Given the description of an element on the screen output the (x, y) to click on. 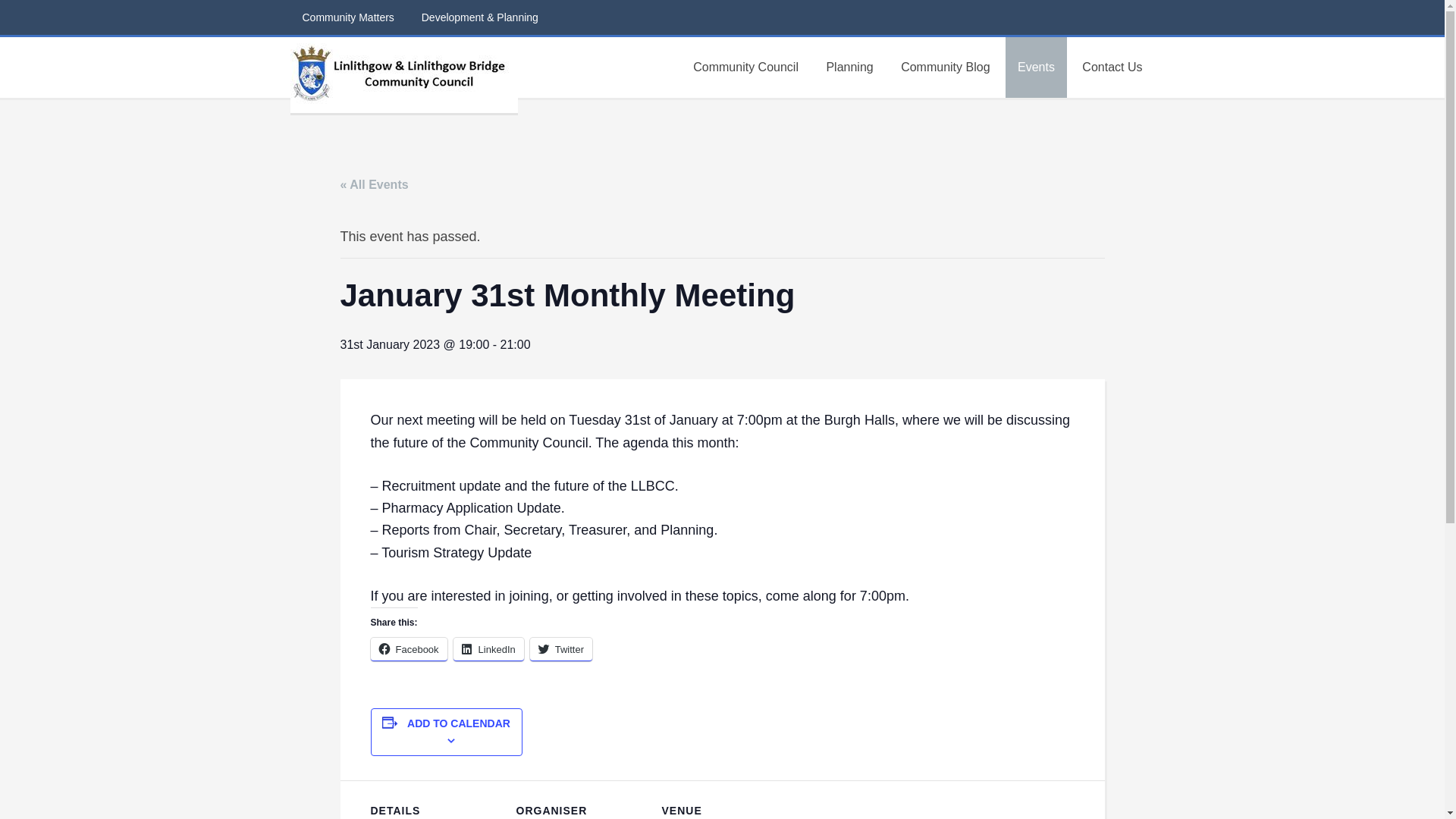
ADD TO CALENDAR (459, 723)
Events (1036, 66)
Facebook (407, 648)
Community Matters (347, 17)
LinkedIn (488, 648)
Contact Us (1112, 66)
Twitter (560, 648)
Click to share on Facebook (407, 648)
Click to share on Twitter (560, 648)
Click to share on LinkedIn (488, 648)
